Given the description of an element on the screen output the (x, y) to click on. 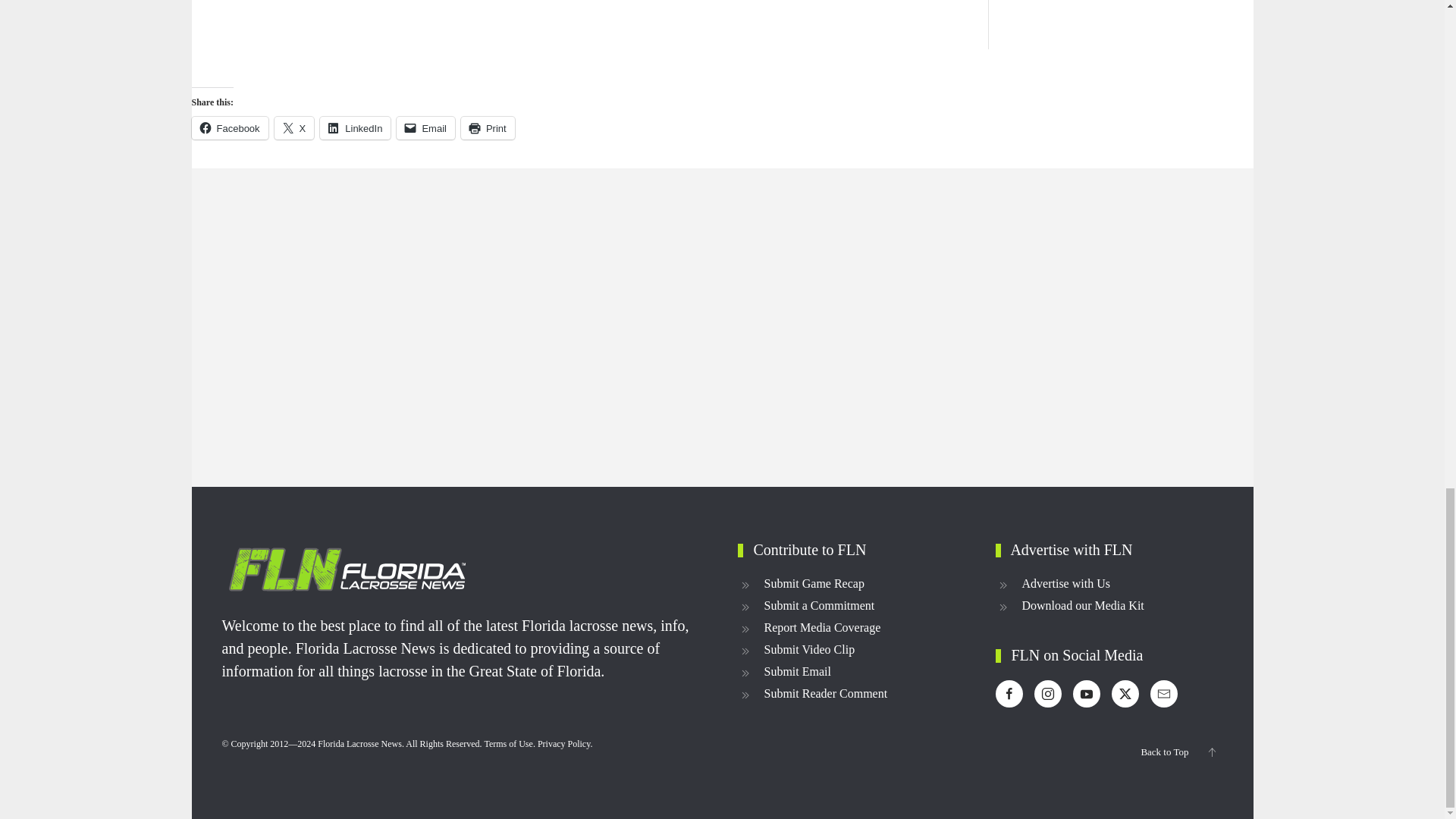
Click to share on Facebook (228, 128)
Click to share on X (294, 128)
Back To Top (1211, 752)
Click to email a link to a friend (425, 128)
Click to share on LinkedIn (355, 128)
Click to print (488, 128)
